Given the description of an element on the screen output the (x, y) to click on. 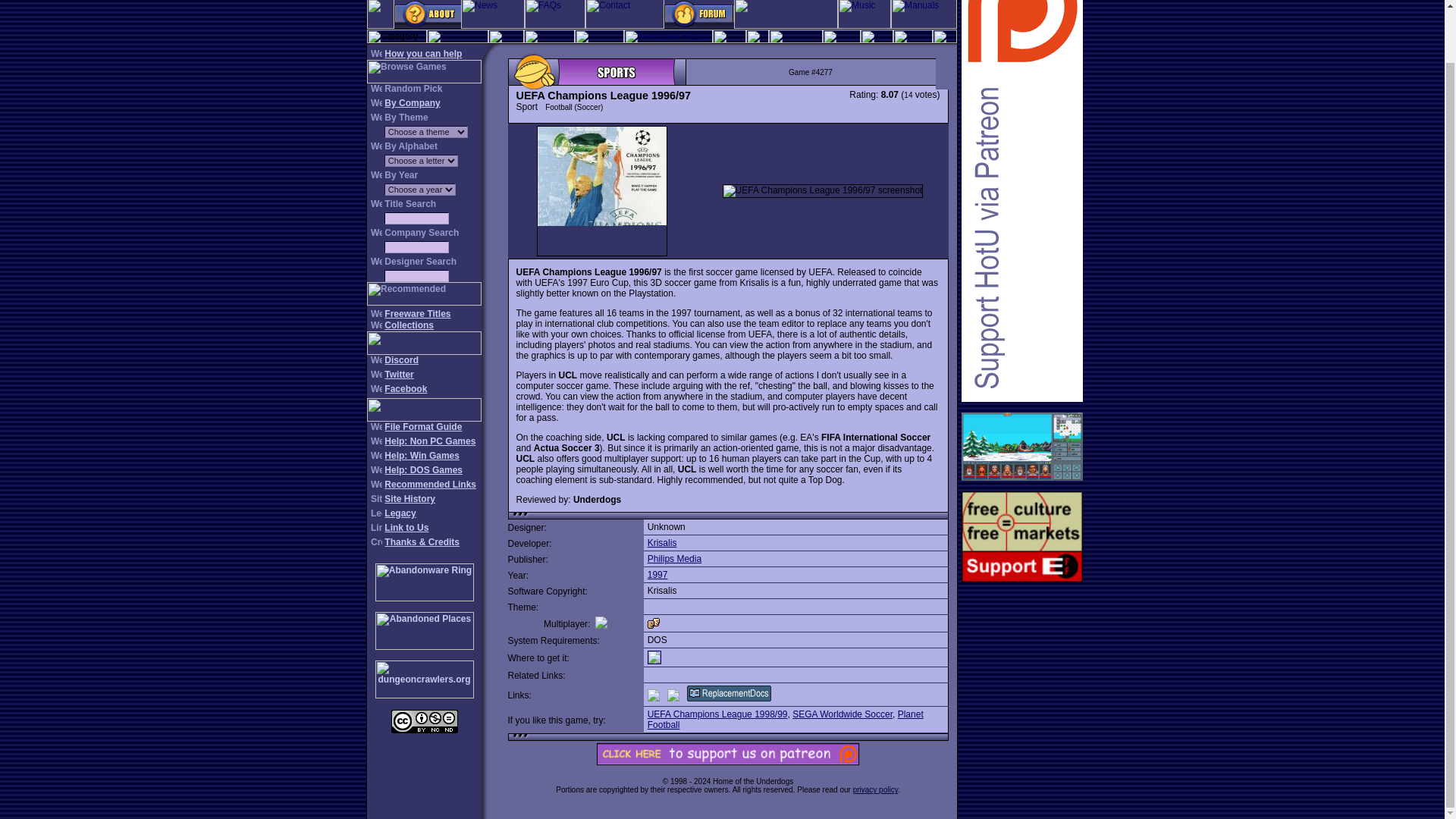
Freeware Titles (416, 313)
File Format Guide (422, 426)
By Company (411, 102)
Help: Non PC Games (430, 440)
Twitter (398, 374)
Random Pick (413, 88)
Site History (409, 498)
Facebook (405, 388)
Discord (401, 359)
Recommended Links (430, 484)
